Given the description of an element on the screen output the (x, y) to click on. 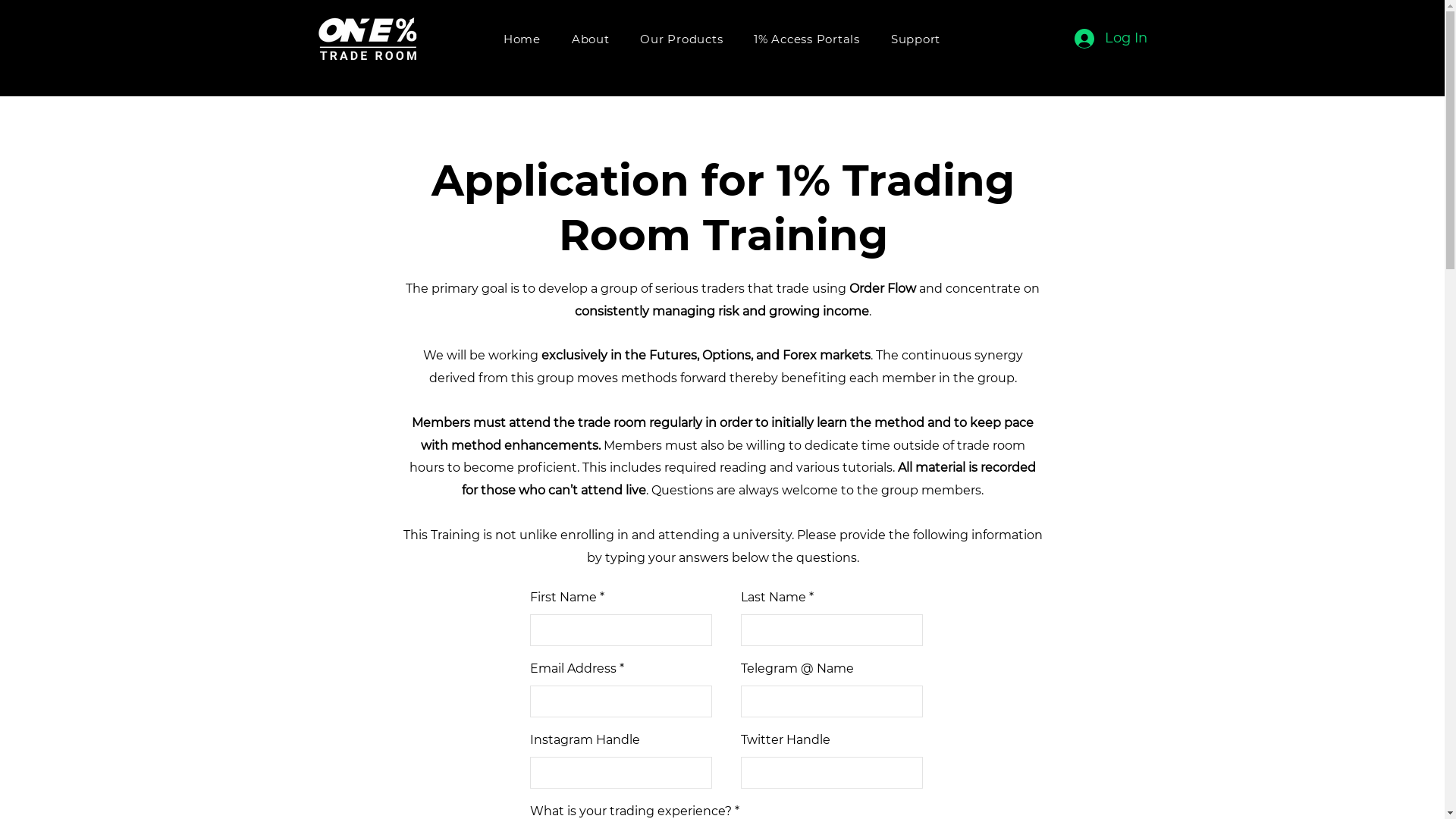
Log In Element type: text (1110, 38)
Home Element type: text (522, 38)
Support Element type: text (915, 38)
About Element type: text (589, 38)
Our Products Element type: text (681, 38)
1% Access Portals Element type: text (806, 38)
